Given the description of an element on the screen output the (x, y) to click on. 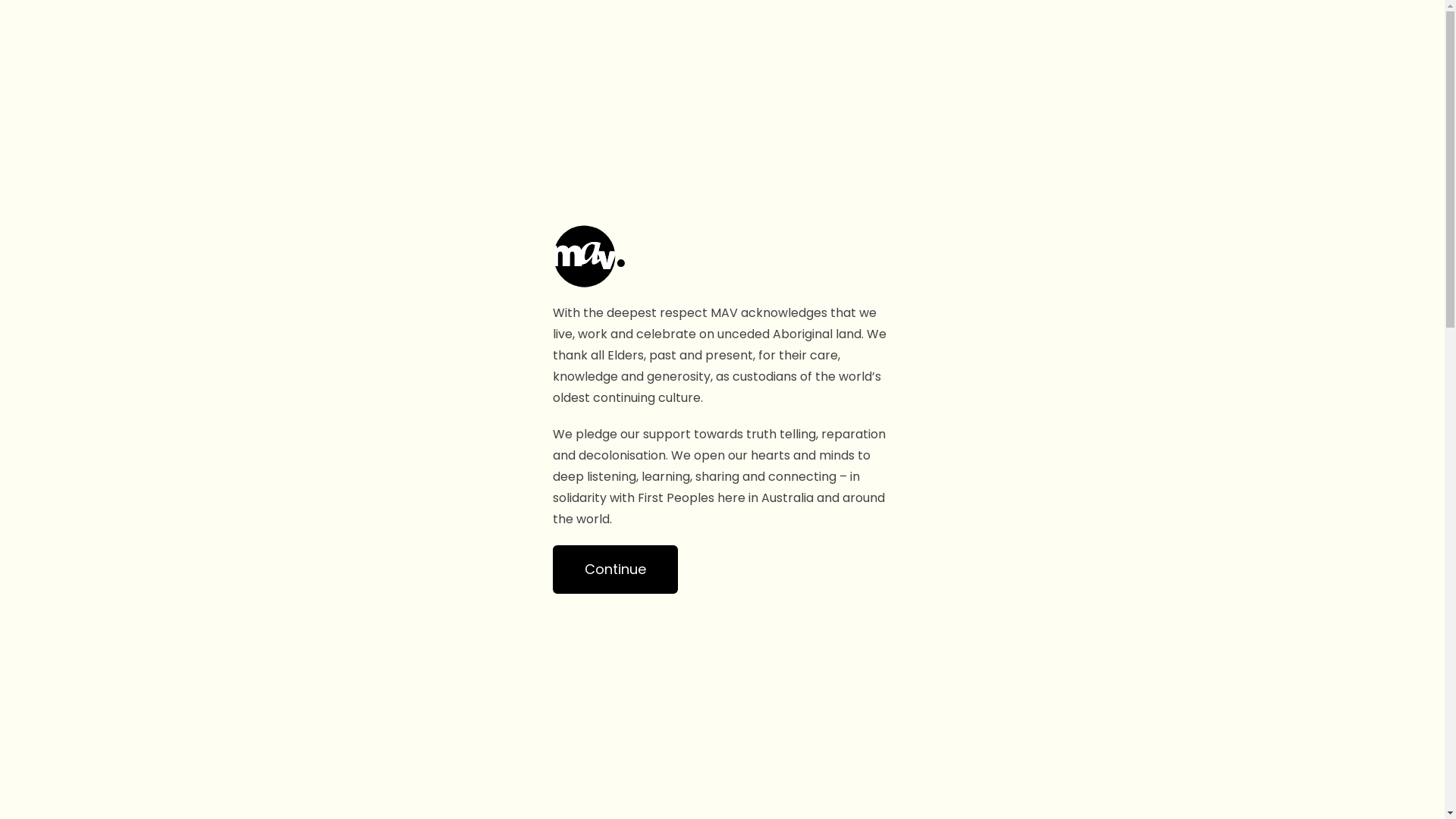
Projects Element type: text (1063, 32)
Services Element type: text (1216, 32)
Continue Element type: text (614, 569)
Events Element type: text (1140, 32)
About Element type: text (1291, 32)
